Given the description of an element on the screen output the (x, y) to click on. 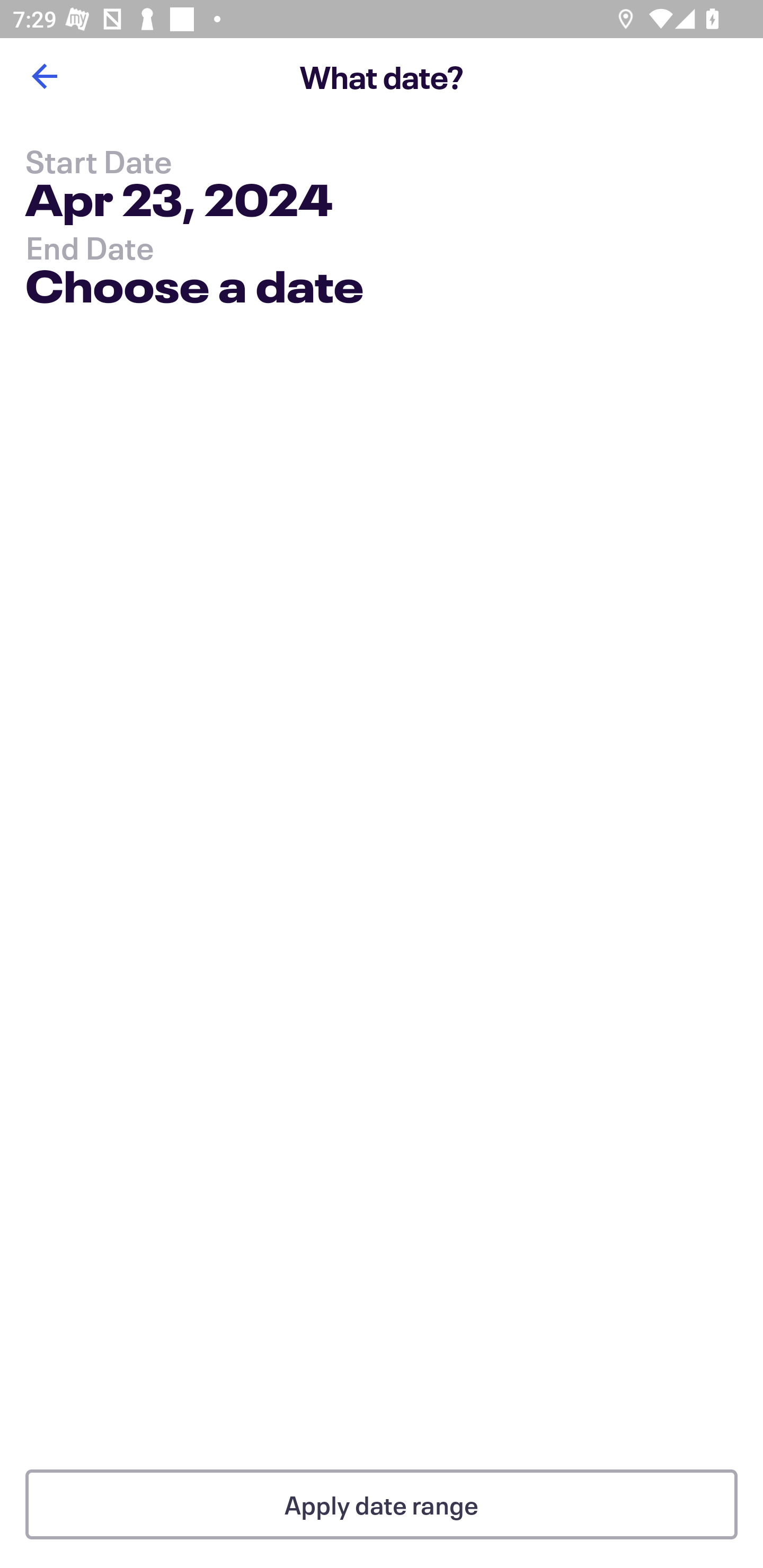
Back button (44, 75)
Apr 23, 2024 (178, 203)
Choose a date (194, 289)
Apply date range (381, 1504)
